Given the description of an element on the screen output the (x, y) to click on. 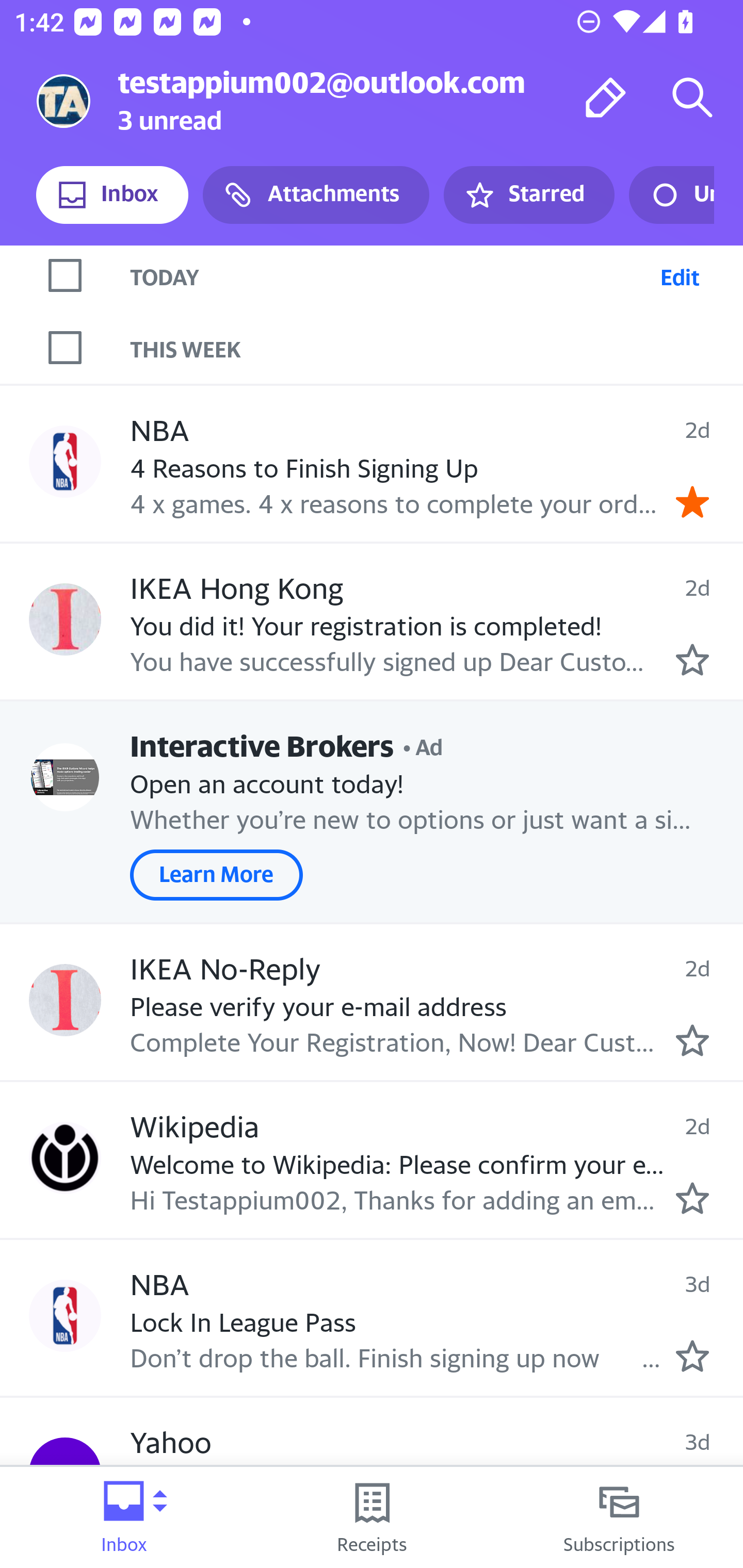
Compose (605, 97)
Search mail (692, 97)
Attachments (315, 195)
Starred (528, 195)
THIS WEEK (436, 347)
Profile
NBA (64, 460)
Remove star. (692, 502)
Profile
IKEA Hong Kong (64, 619)
Mark as starred. (692, 659)
Profile
IKEA No-Reply (64, 1000)
Mark as starred. (692, 1040)
Profile
Wikipedia (64, 1157)
Mark as starred. (692, 1198)
Profile
NBA (64, 1315)
Mark as starred. (692, 1355)
Inbox Folder picker (123, 1517)
Receipts (371, 1517)
Subscriptions (619, 1517)
